Given the description of an element on the screen output the (x, y) to click on. 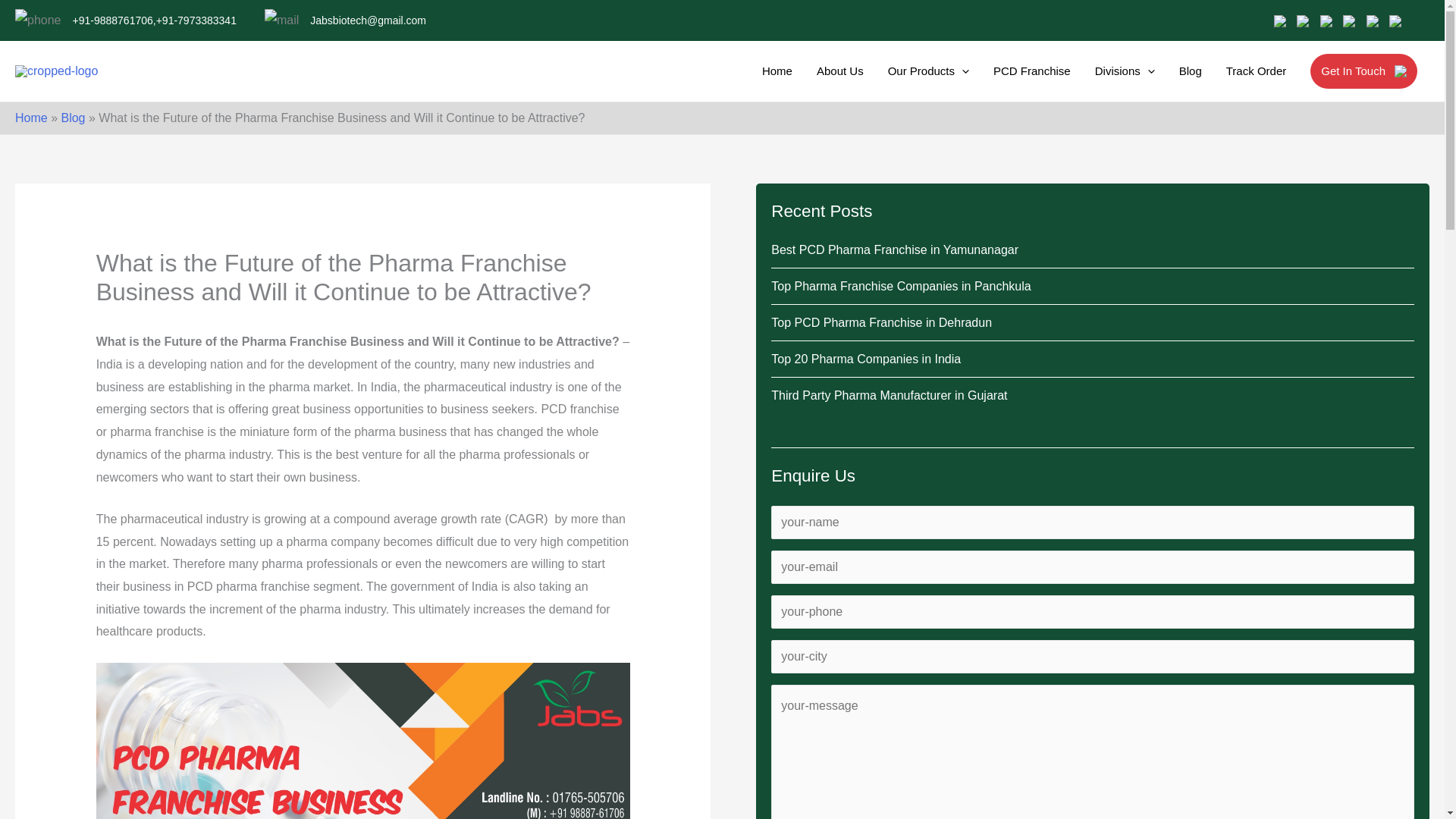
Divisions (1124, 71)
Get In Touch (1363, 71)
Our Products (928, 71)
PCD Franchise (1031, 71)
About Us (839, 71)
Track Order (1255, 71)
